Given the description of an element on the screen output the (x, y) to click on. 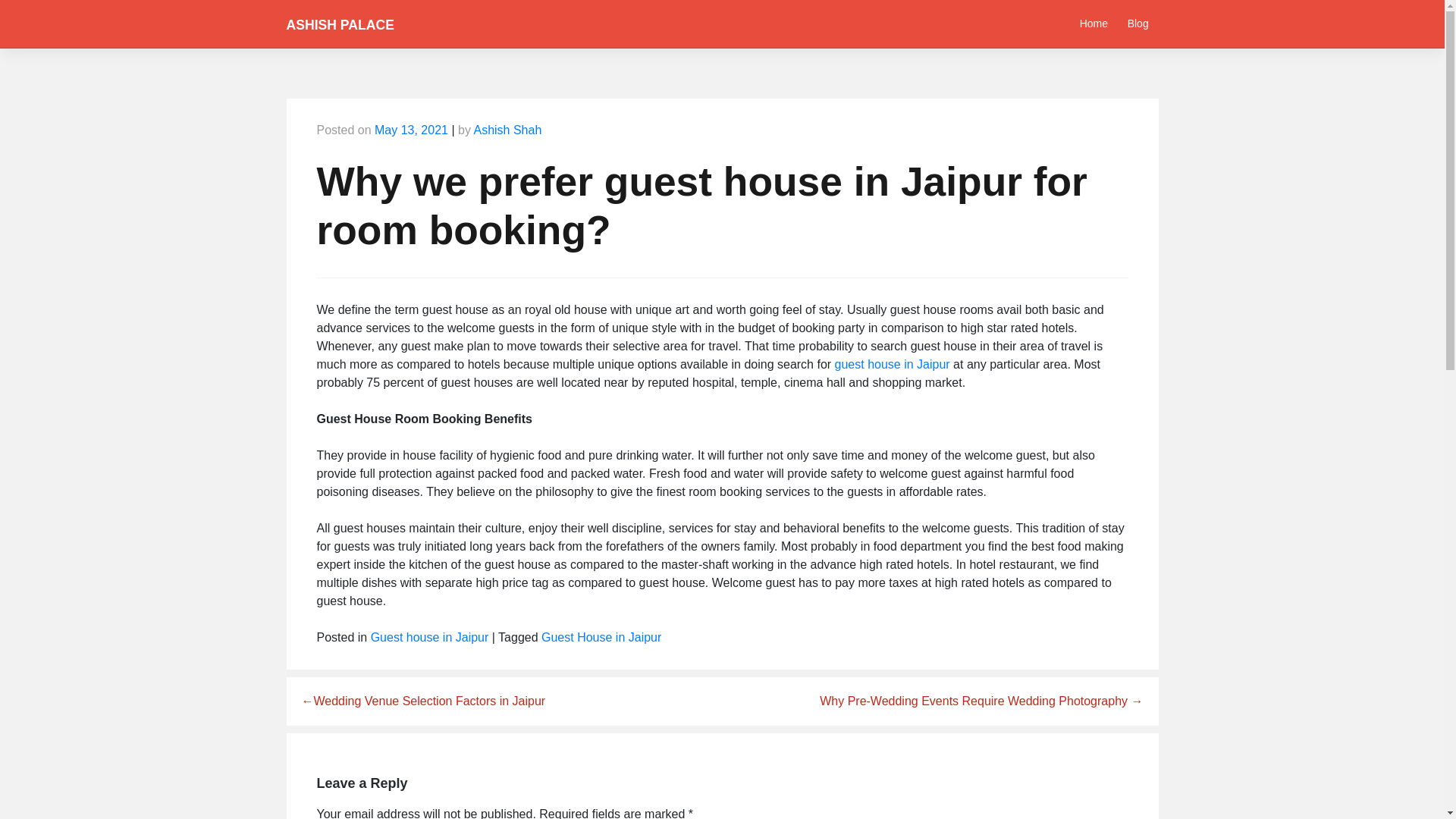
Guest house in Jaipur (430, 636)
ASHISH PALACE (340, 24)
Ashish Shah (507, 129)
Why Pre-Wedding Events Require Wedding Photography (980, 700)
Guest House in Jaipur (601, 636)
May 13, 2021 (411, 129)
Home (1094, 23)
guest house in Jaipur (892, 364)
Blog (1138, 23)
Wedding Venue Selection Factors in Jaipur (423, 700)
Blog (1138, 23)
Home (1094, 23)
